Given the description of an element on the screen output the (x, y) to click on. 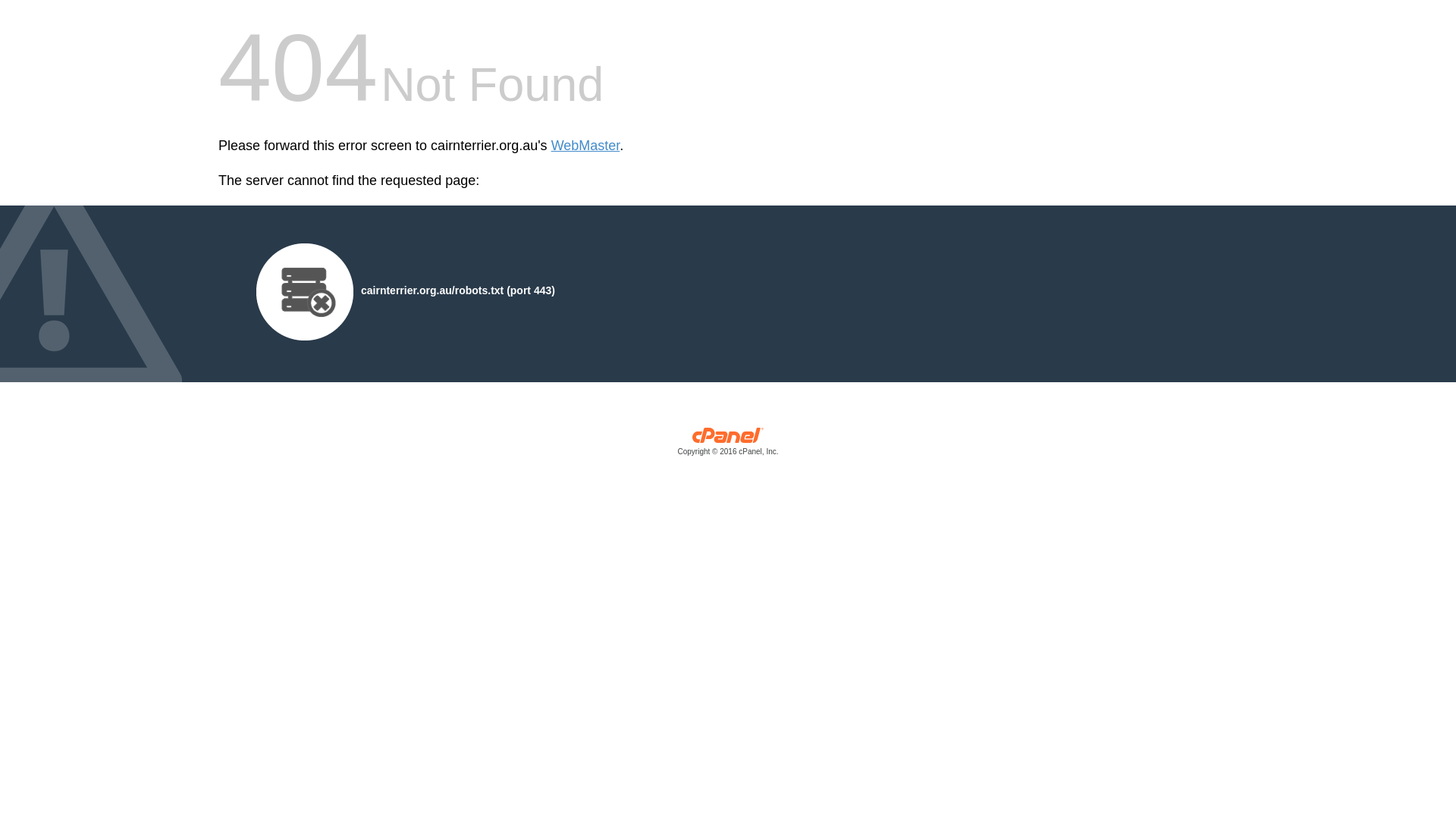
WebMaster Element type: text (585, 145)
